Given the description of an element on the screen output the (x, y) to click on. 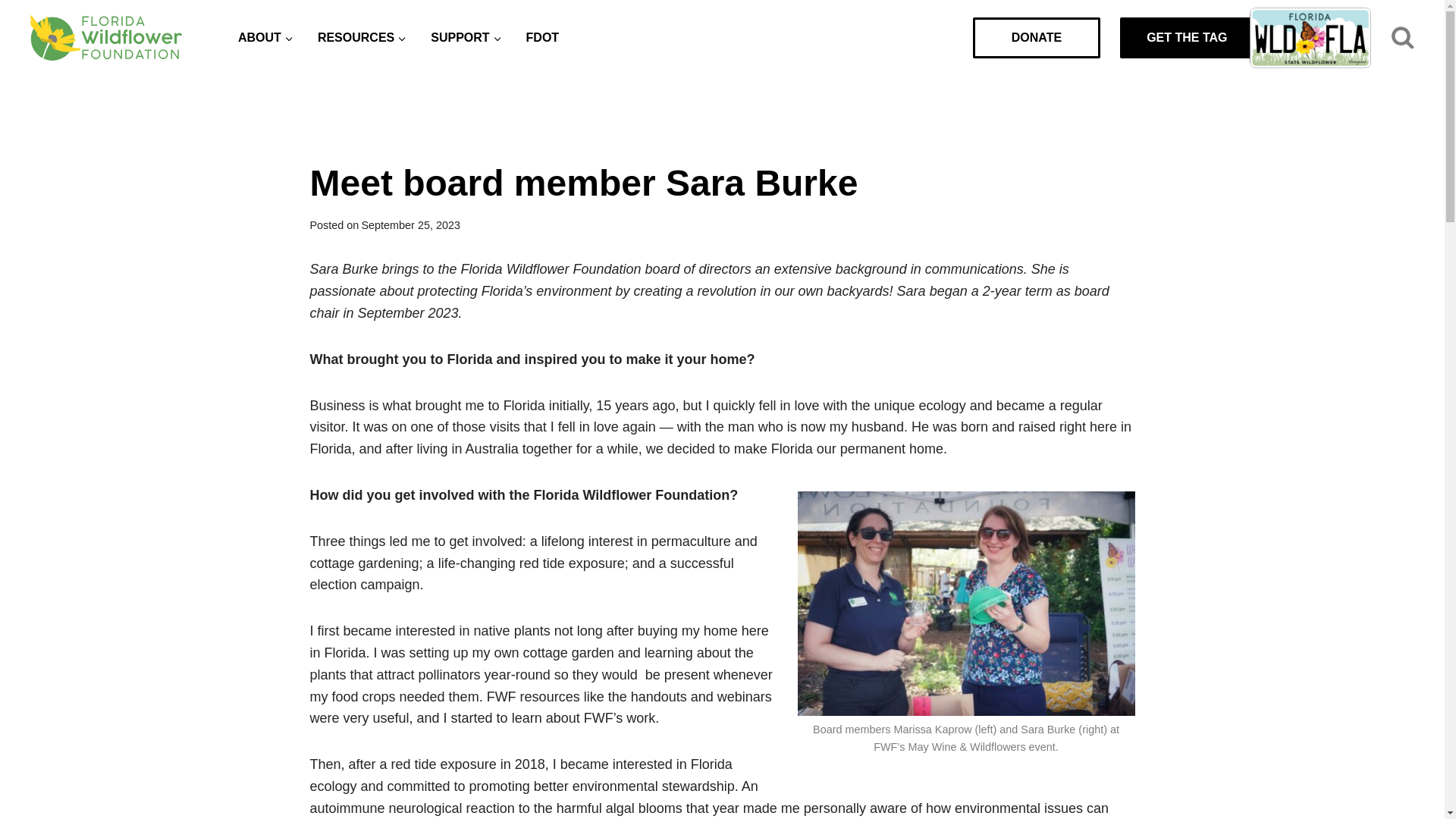
ABOUT (265, 38)
SUPPORT (466, 38)
RESOURCES (362, 38)
DONATE (1036, 37)
GET THE TAG (1222, 37)
